Given the description of an element on the screen output the (x, y) to click on. 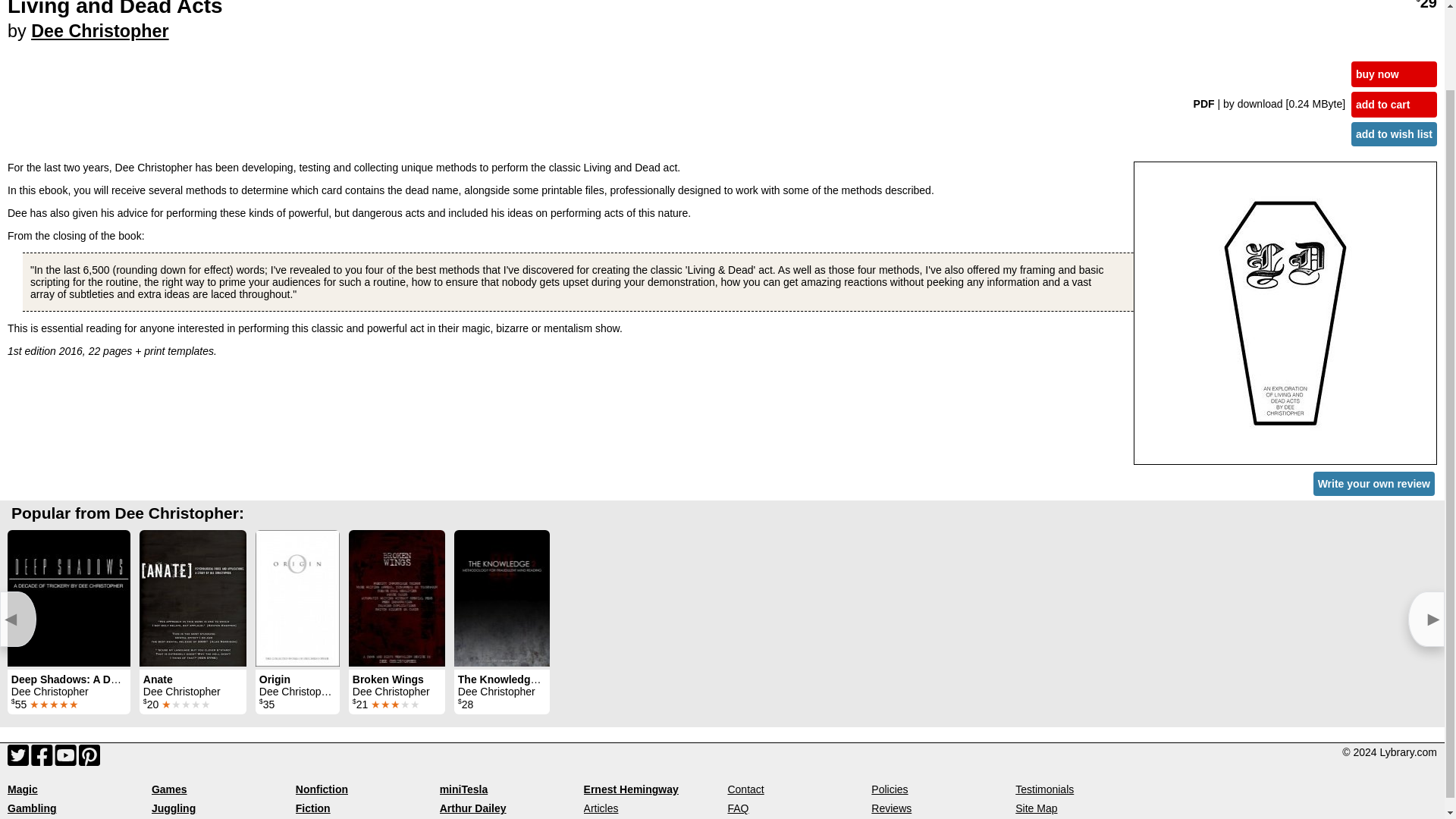
buy now (1394, 73)
Nonfiction (321, 788)
Arthur Dailey (472, 808)
FAQ (737, 808)
miniTesla (463, 788)
Write your own review (1373, 483)
Site Map (1035, 808)
Articles (600, 808)
Magic (22, 788)
Dee Christopher (99, 30)
